Given the description of an element on the screen output the (x, y) to click on. 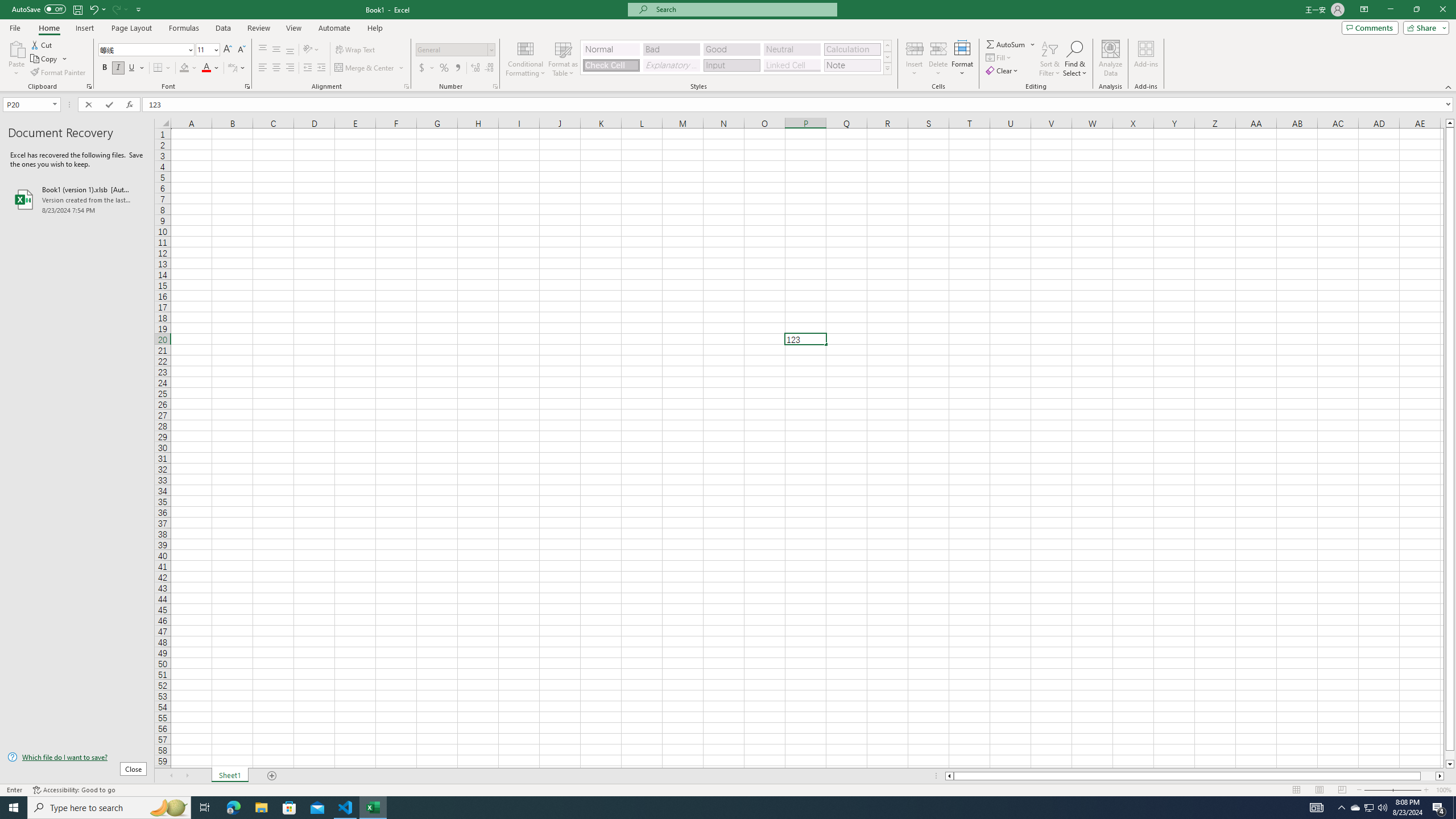
Cut (42, 44)
Edit Cell (805, 339)
Insert Cells (914, 48)
Share (1423, 27)
Linked Cell (791, 65)
Cell Styles (887, 68)
Accessibility Checker Accessibility: Good to go (74, 790)
Name Box (30, 104)
Neutral (791, 49)
Line up (1449, 122)
Bottom Border (157, 67)
Analyze Data (1110, 58)
Delete Cells... (938, 48)
Insert (83, 28)
System (6, 6)
